Given the description of an element on the screen output the (x, y) to click on. 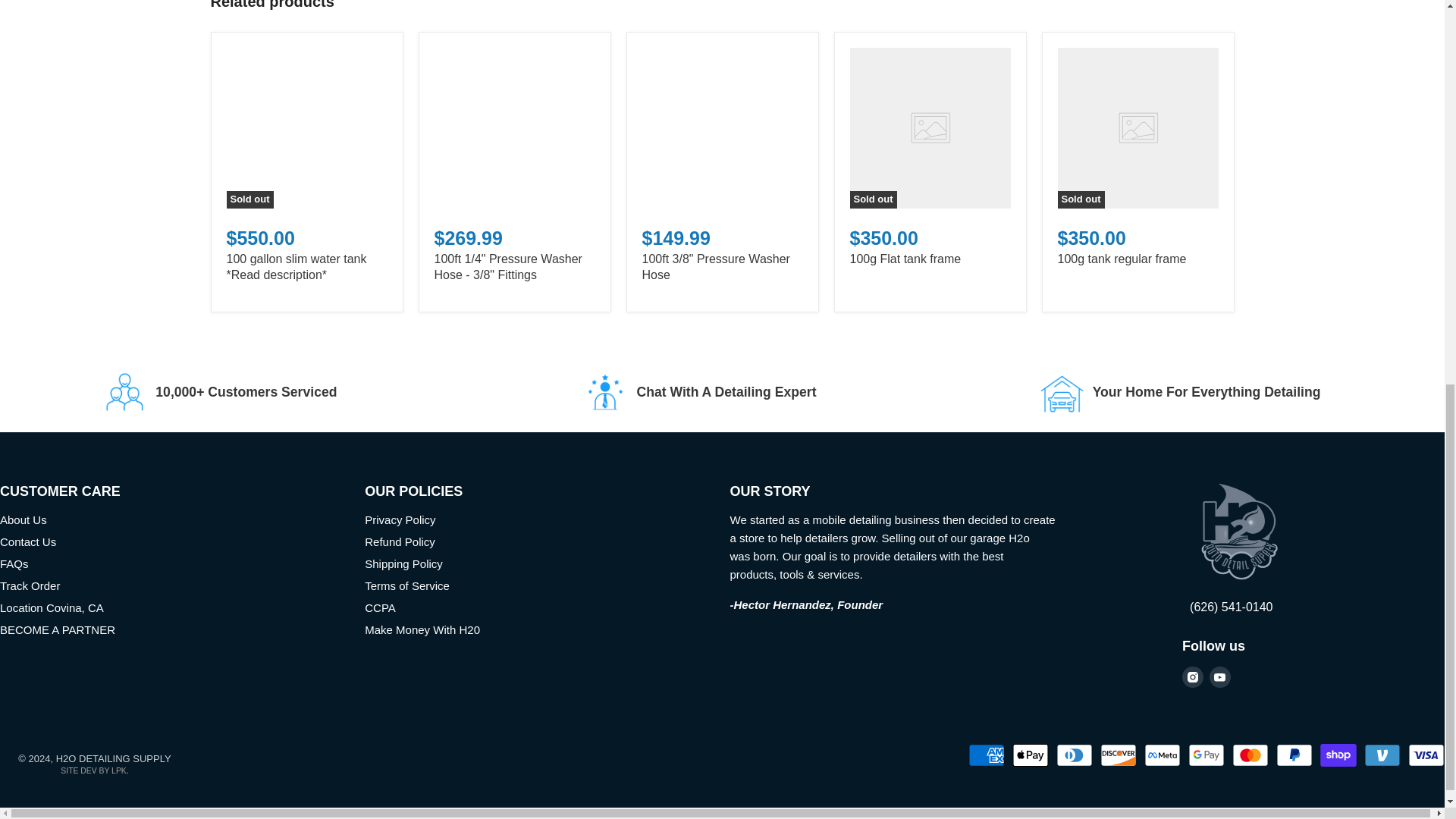
Instagram (1193, 677)
Youtube (1220, 677)
